Given the description of an element on the screen output the (x, y) to click on. 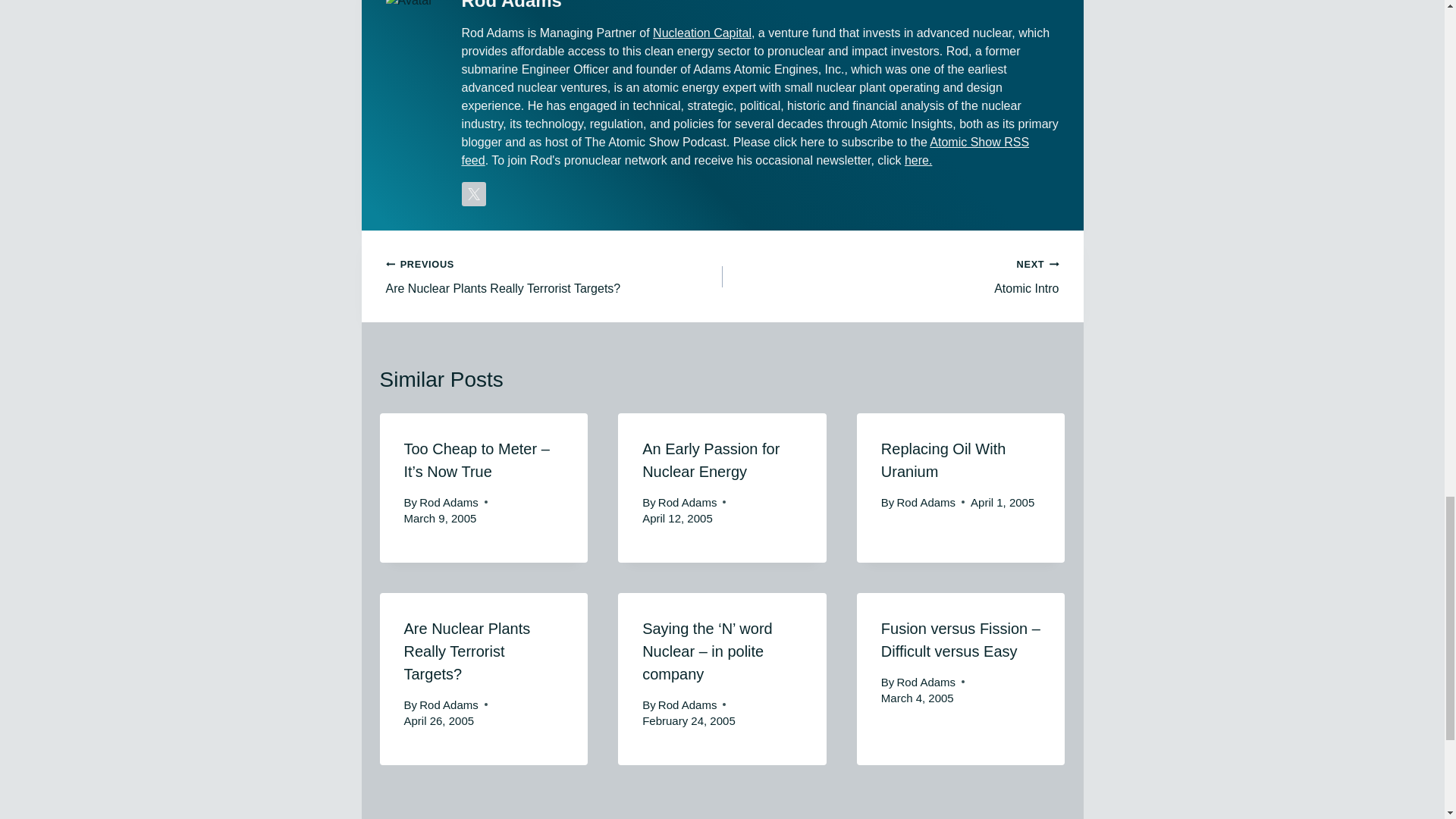
here. (917, 160)
Rod Adams (926, 502)
Follow Rod Adams on X formerly Twitter (472, 193)
Rod Adams (449, 704)
Are Nuclear Plants Really Terrorist Targets? (466, 650)
Rod Adams (687, 502)
Rod Adams (926, 681)
Rod Adams (553, 276)
Nucleation Capital (449, 502)
